Given the description of an element on the screen output the (x, y) to click on. 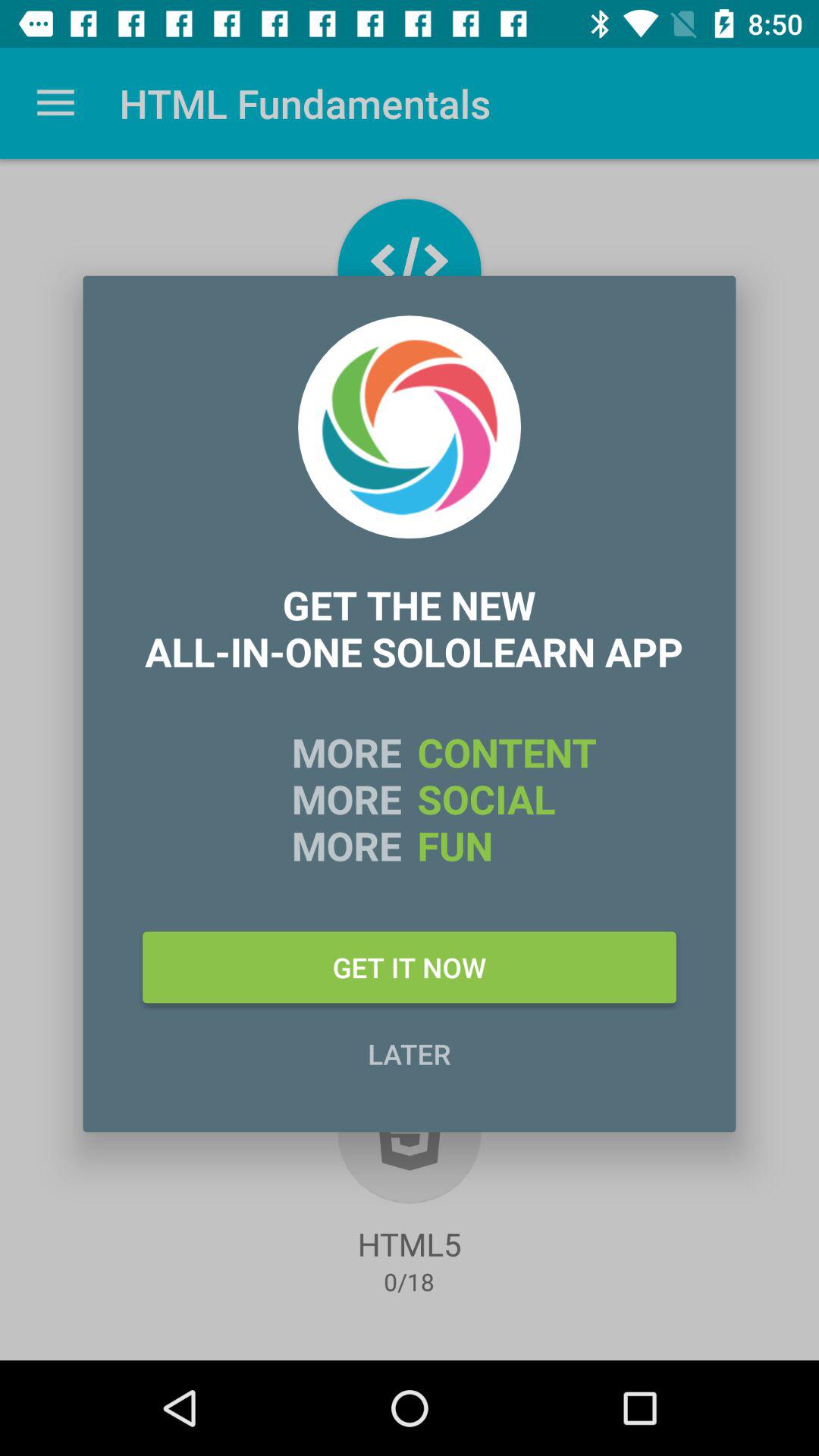
turn on get it now icon (409, 967)
